Given the description of an element on the screen output the (x, y) to click on. 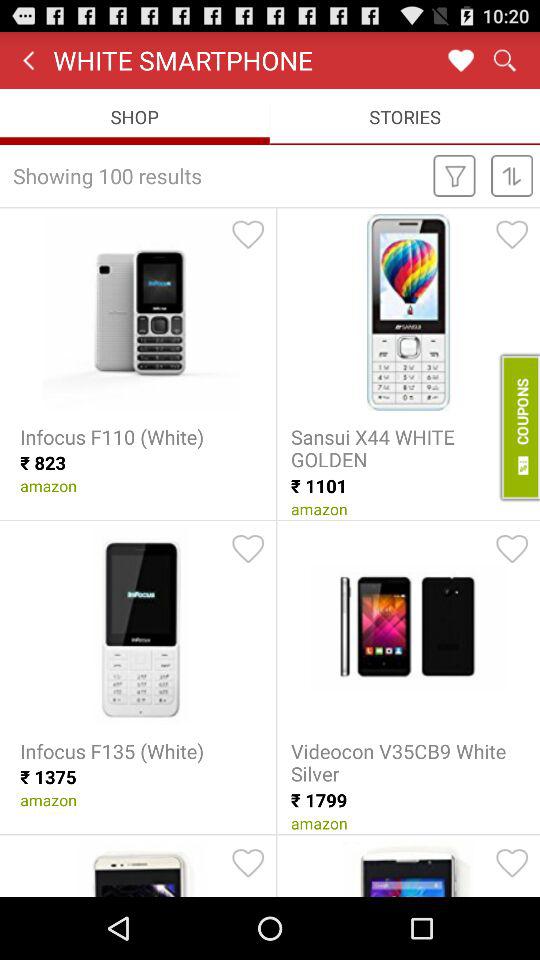
he can activate the simple voice command (248, 234)
